Given the description of an element on the screen output the (x, y) to click on. 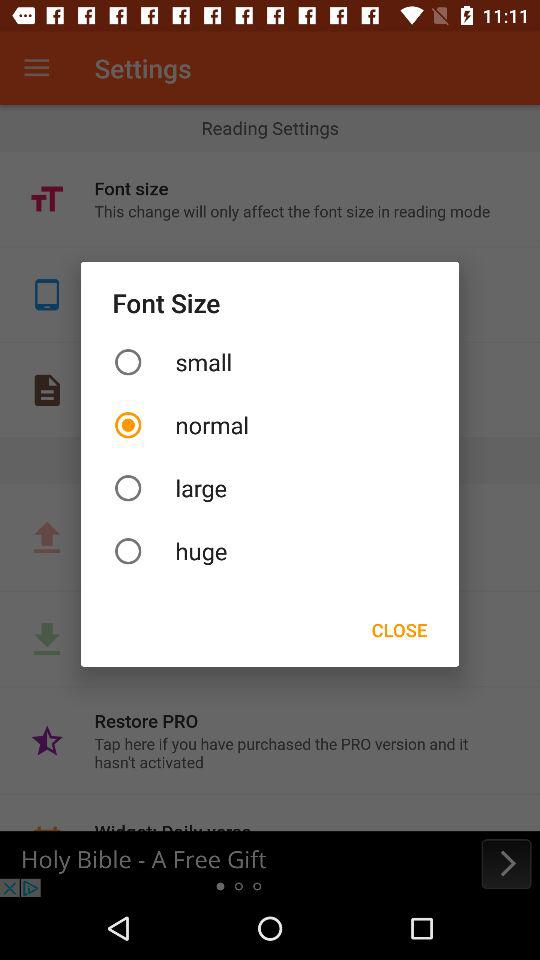
click the icon below the large item (270, 550)
